Given the description of an element on the screen output the (x, y) to click on. 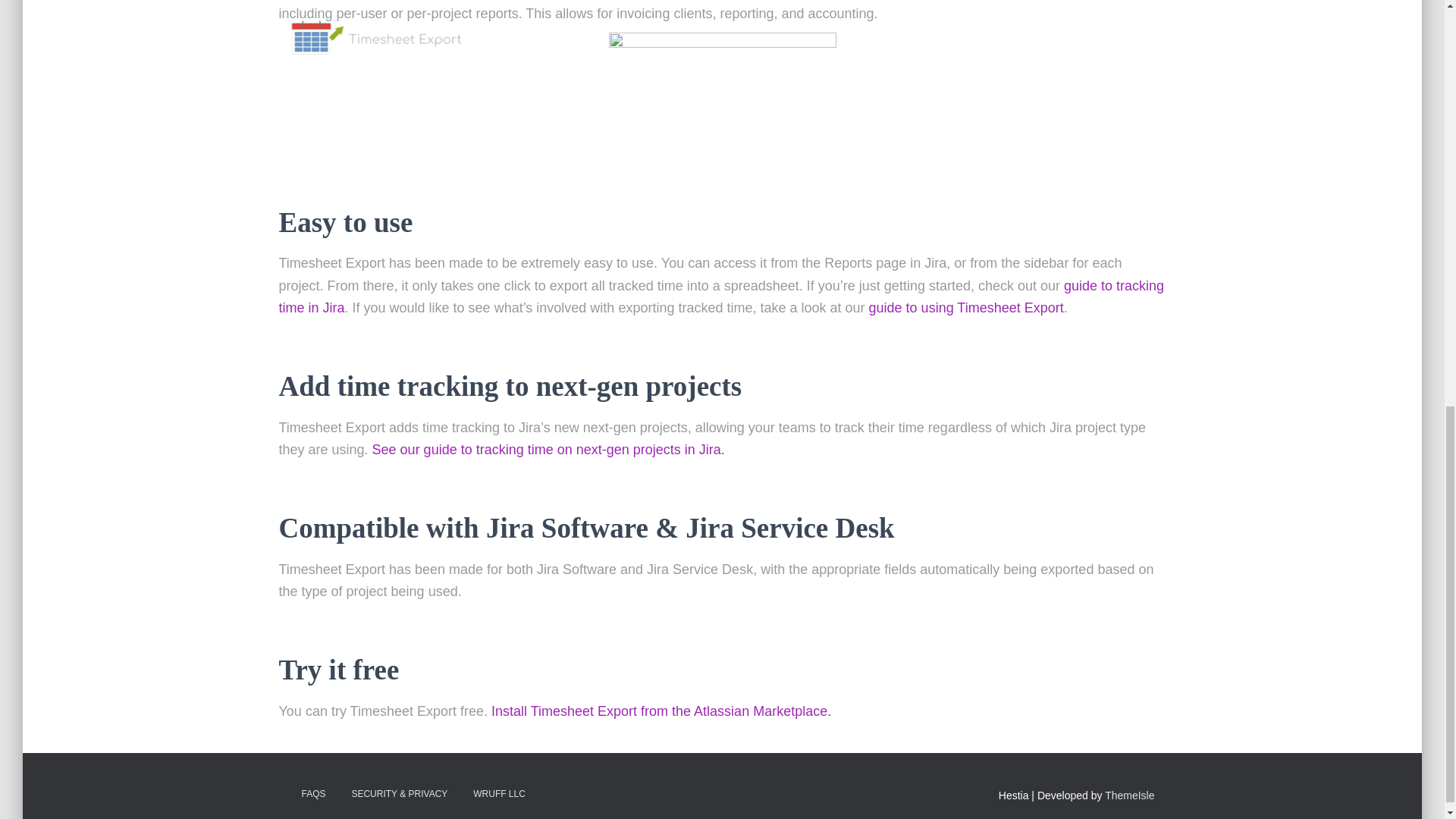
See our guide to tracking time on next-gen projects in Jira. (548, 449)
ThemeIsle (1129, 795)
FAQS (312, 794)
Install Timesheet Export from the Atlassian Marketplace. (661, 711)
guide to tracking time in Jira (721, 296)
guide to using Timesheet Export (966, 307)
WRUFF LLC (499, 794)
